Given the description of an element on the screen output the (x, y) to click on. 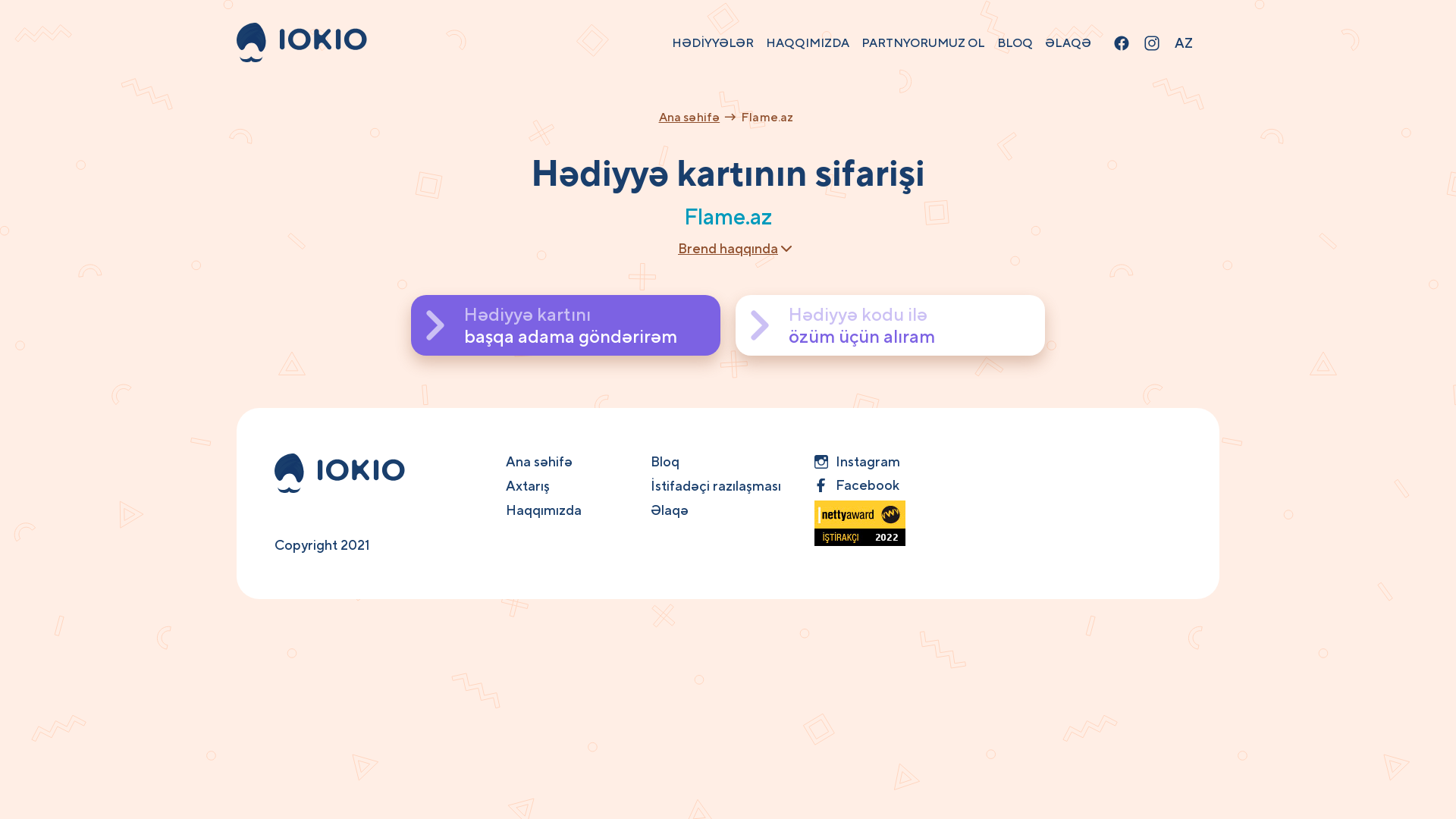
NETTY2022 Member Element type: hover (853, 523)
Instagram Element type: text (853, 461)
Facebook Element type: text (853, 484)
Bloq Element type: text (664, 461)
BLOQ Element type: text (1014, 42)
Flame.az Element type: text (766, 116)
PARTNYORUMUZ OL Element type: text (923, 42)
HAQQIMIZDA Element type: text (807, 42)
